Given the description of an element on the screen output the (x, y) to click on. 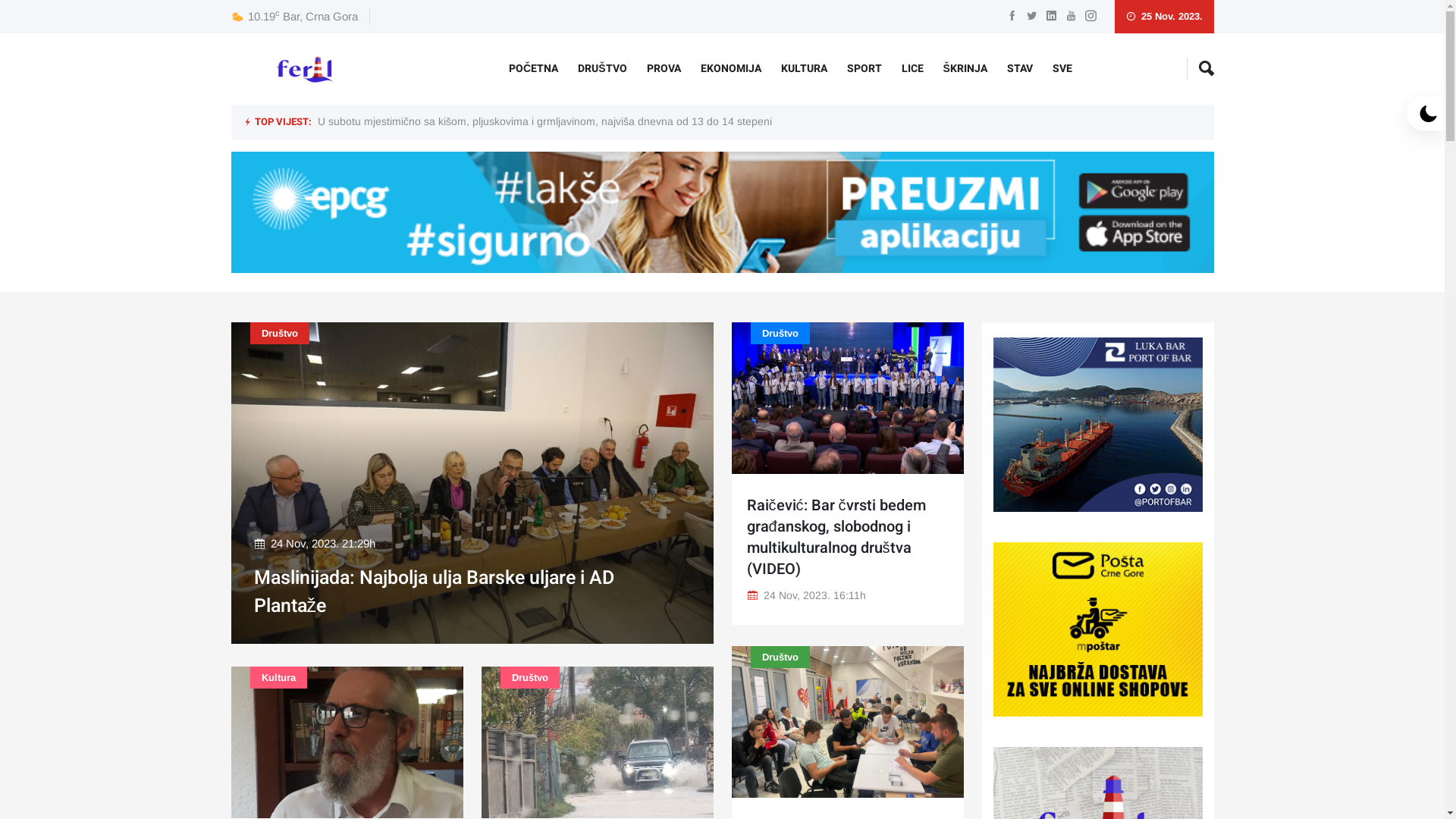
Linkedin Element type: hover (1050, 16)
SVE Element type: text (1062, 68)
EKONOMIJA Element type: text (730, 68)
Twitter Element type: hover (1030, 16)
LICE Element type: text (912, 68)
YouTube Element type: hover (1070, 16)
KULTURA Element type: text (804, 68)
PROVA Element type: text (663, 68)
SPORT Element type: text (864, 68)
Facebook Element type: hover (1010, 16)
Instagram Element type: hover (1089, 16)
Kultura Element type: text (278, 677)
STAV Element type: text (1019, 68)
